Given the description of an element on the screen output the (x, y) to click on. 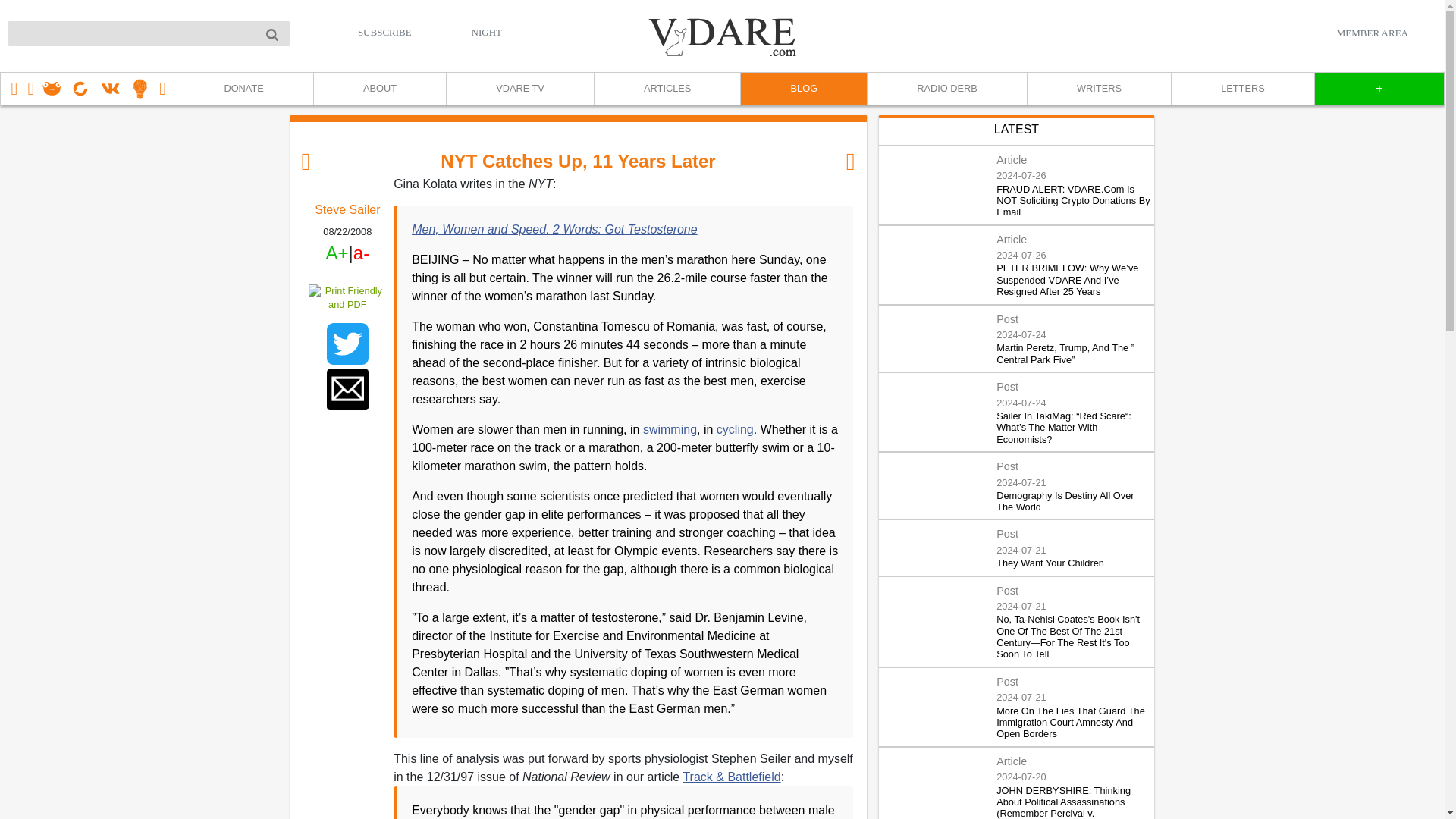
DONATE (243, 88)
BLOG (802, 88)
Share to Email (347, 389)
SUBSCRIBE (385, 31)
RADIO DERB (946, 88)
MEMBER AREA (1371, 32)
ABOUT (379, 88)
WRITERS (1098, 88)
Printer Friendly and PDF (347, 297)
ARTICLES (666, 88)
